Given the description of an element on the screen output the (x, y) to click on. 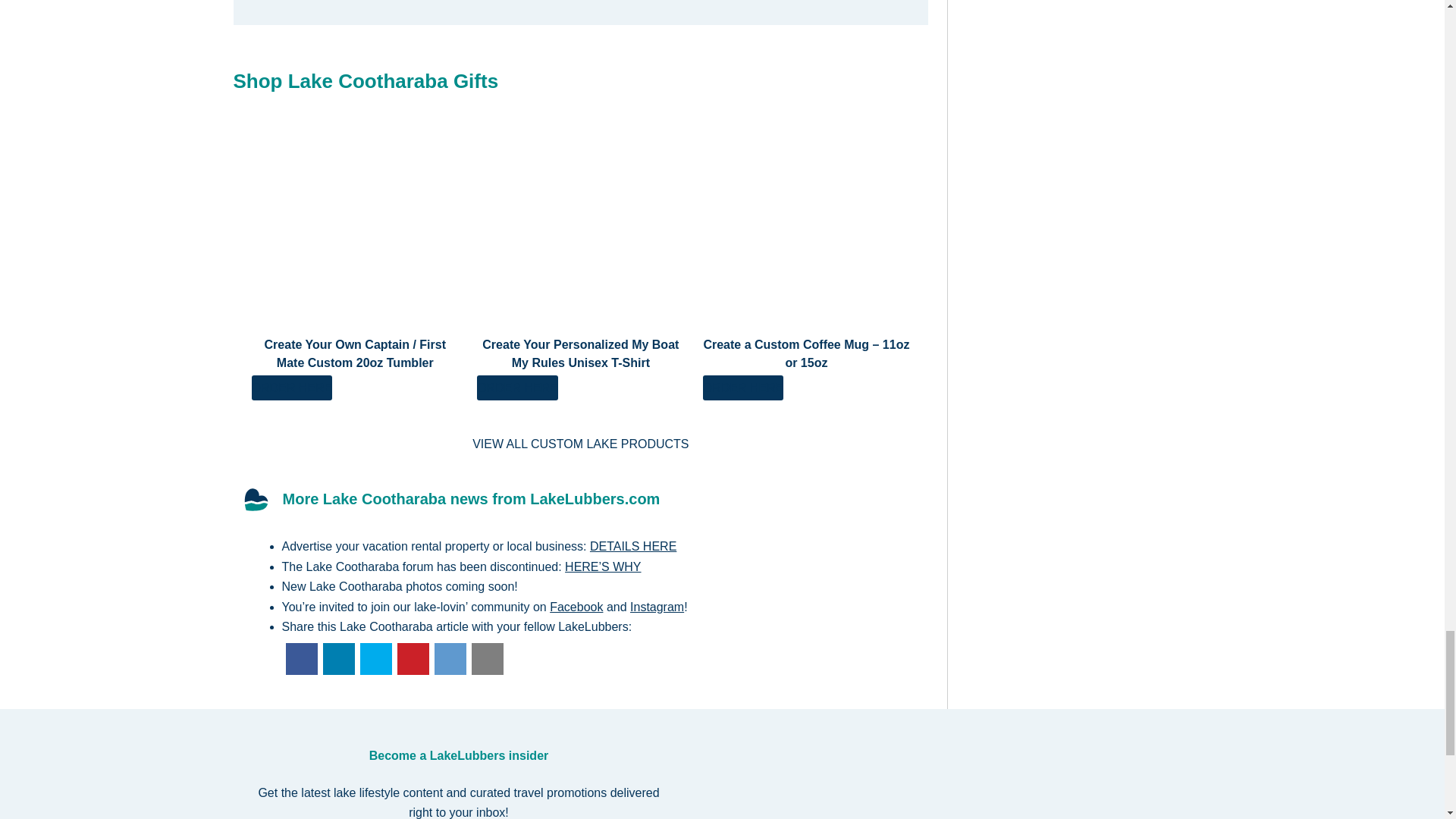
Custom Lake Coffee Mug - On Lake Time (743, 387)
Custom Lake Tumbler - Captain or First Mate (355, 230)
Custom Lake Coffee Mug - On Lake Time (807, 230)
Custom Lake Products (579, 443)
Custom Lake Shirt - My Boat My Rules (580, 230)
Custom Lake Tumbler - Captain or First Mate (292, 387)
Custom Lake Shirt - My Boat My Rules (517, 387)
